Given the description of an element on the screen output the (x, y) to click on. 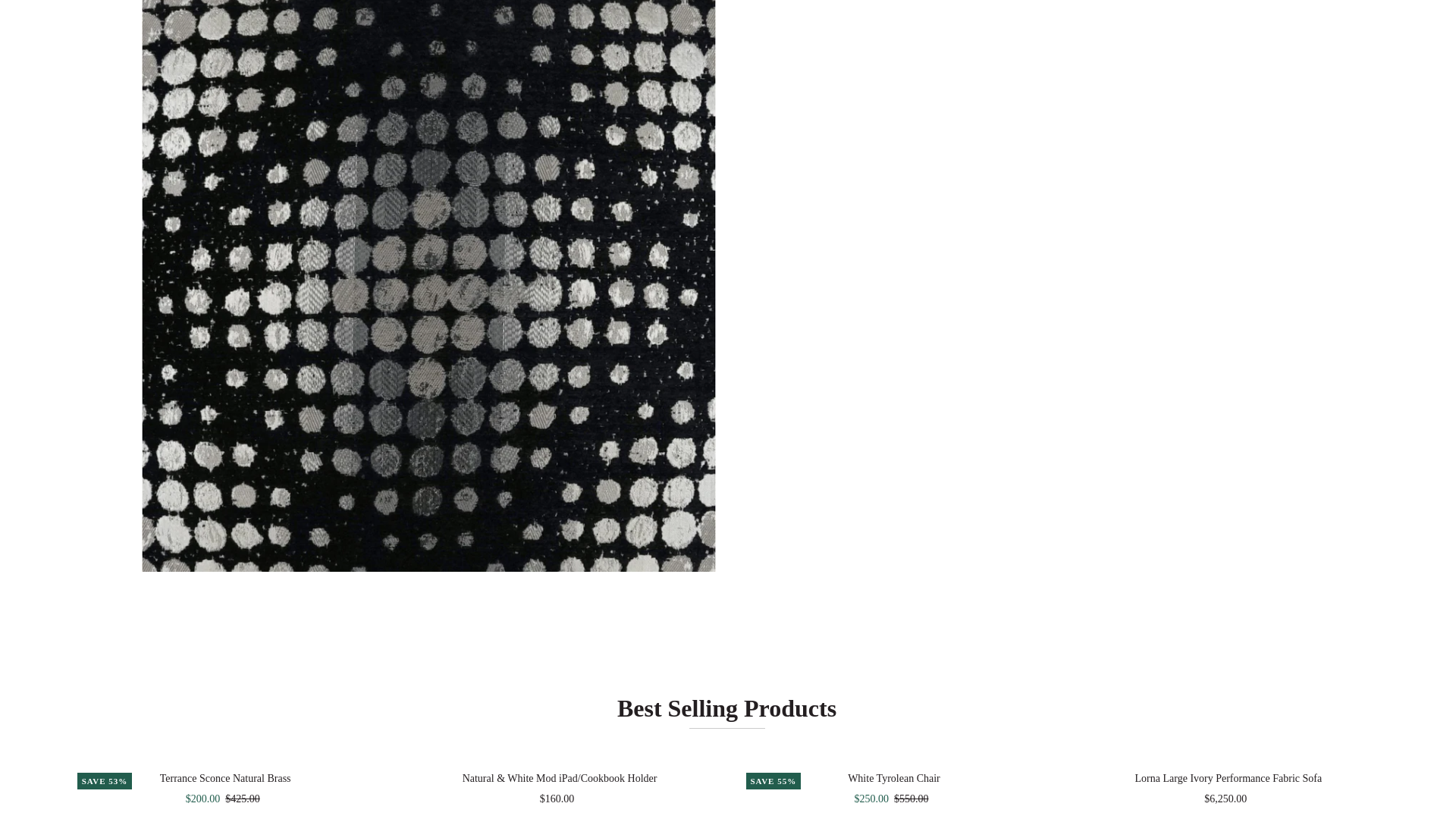
Add to cart (560, 812)
Add to cart (1228, 812)
Add to cart (893, 812)
Add to cart (225, 812)
